Given the description of an element on the screen output the (x, y) to click on. 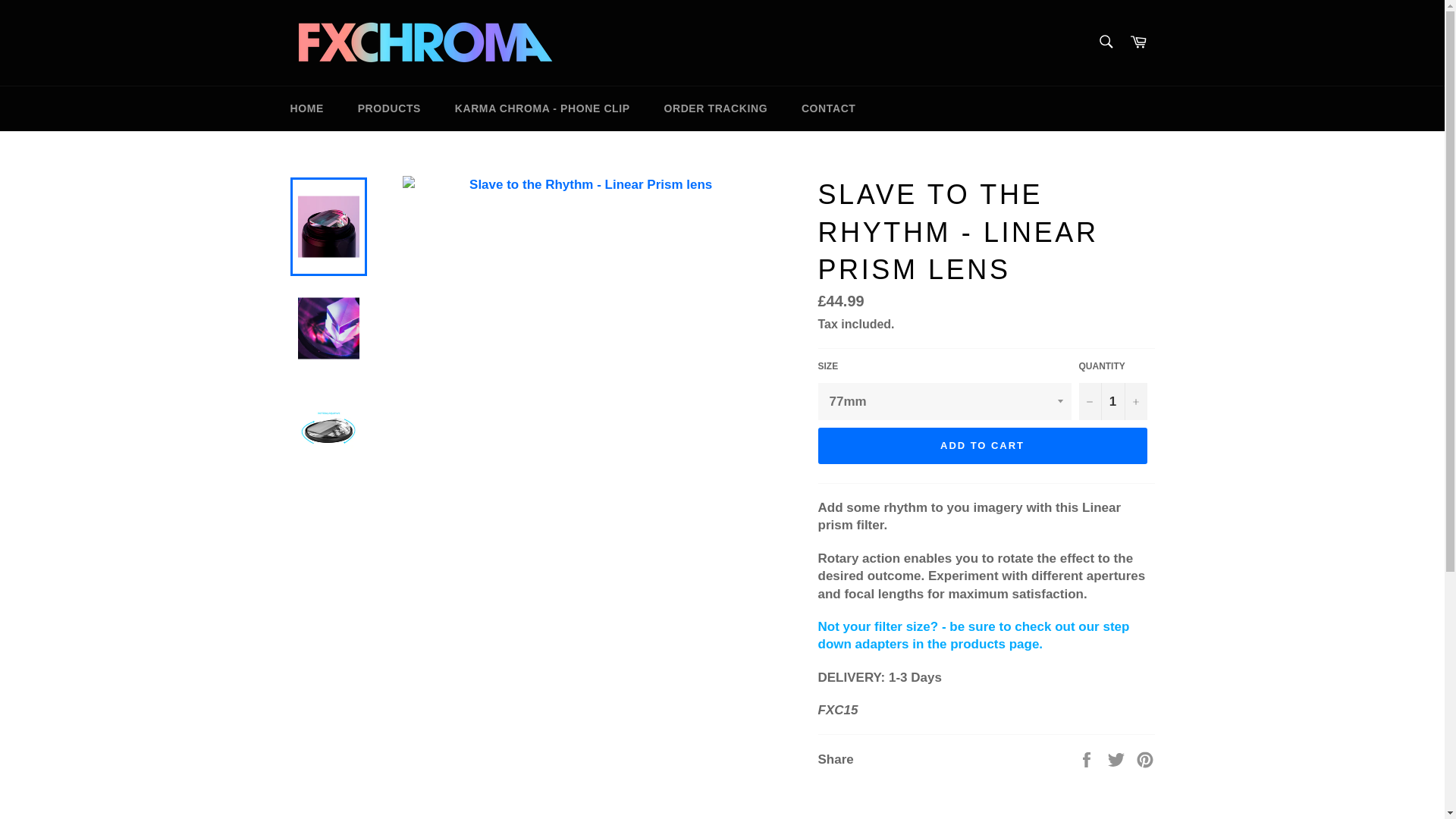
Share on Facebook (1088, 758)
Pin on Pinterest (1144, 758)
CONTACT (828, 108)
Search (1104, 41)
1 (1112, 401)
ADD TO CART (981, 445)
ORDER TRACKING (715, 108)
Cart (1138, 42)
KARMA CHROMA - PHONE CLIP (542, 108)
Tweet on Twitter (1117, 758)
Tweet on Twitter (1117, 758)
PRODUCTS (388, 108)
Share on Facebook (1088, 758)
Pin on Pinterest (1144, 758)
HOME (306, 108)
